Given the description of an element on the screen output the (x, y) to click on. 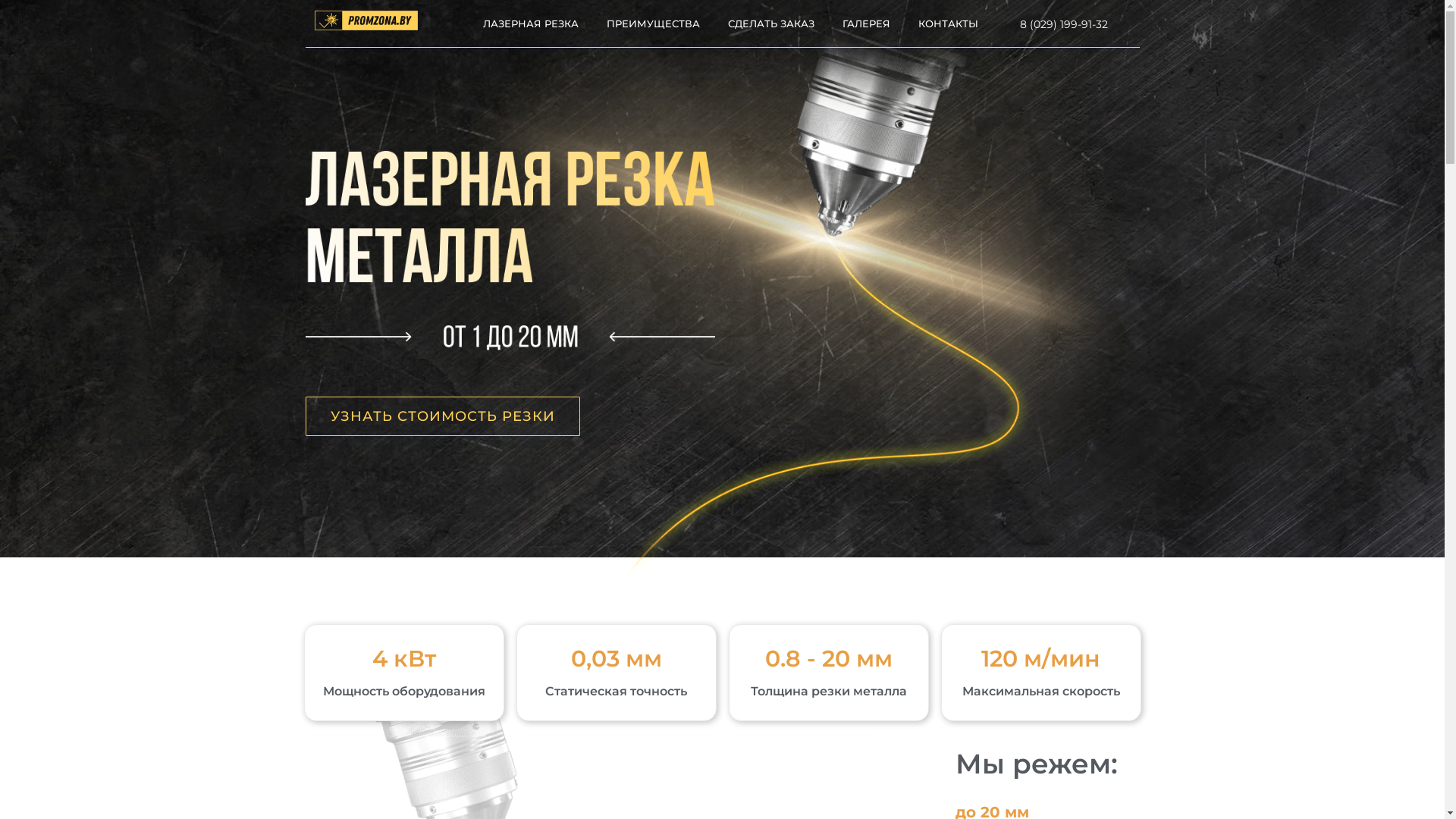
8 (029) 199-91-32 Element type: text (1063, 24)
